Given the description of an element on the screen output the (x, y) to click on. 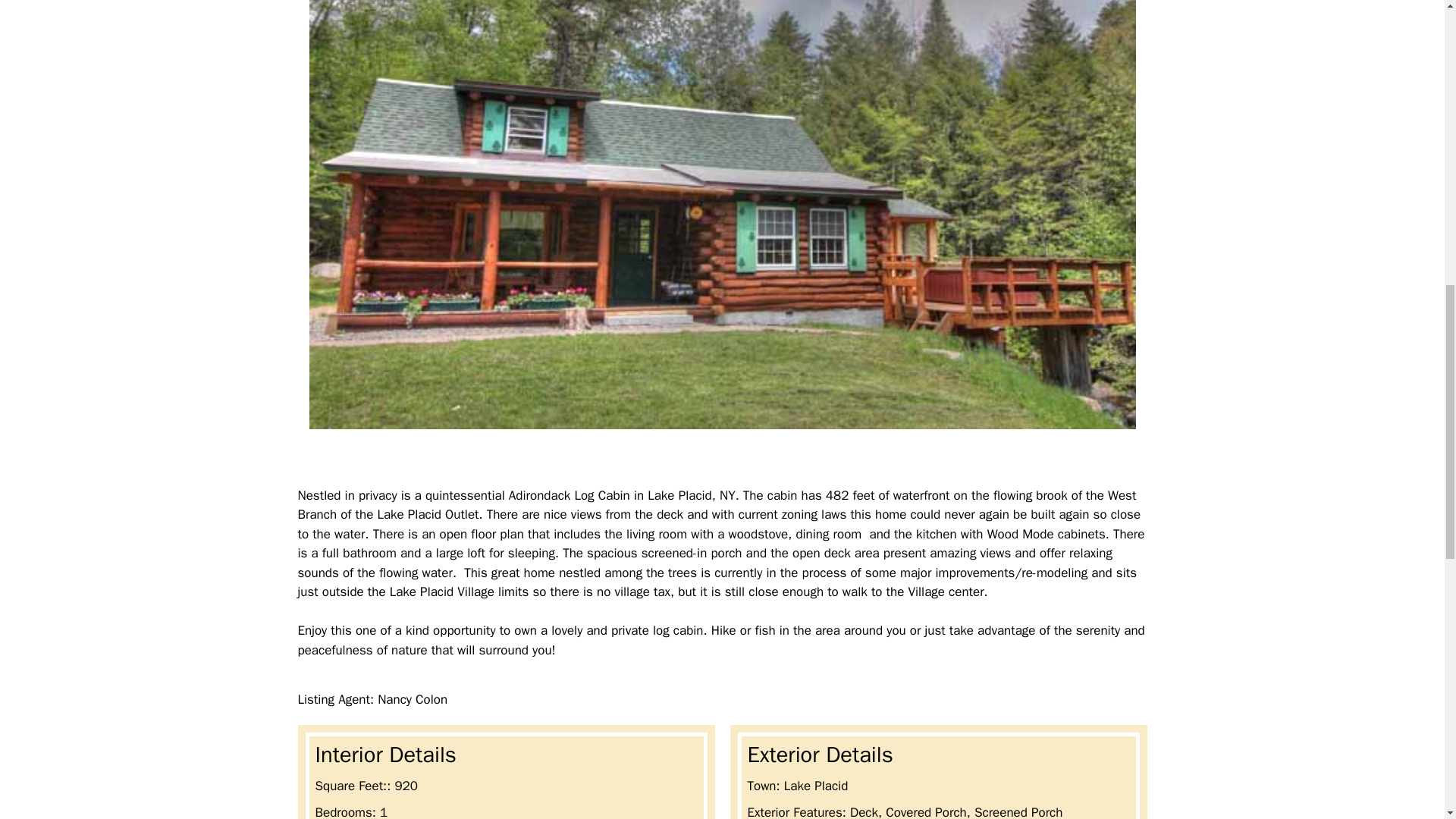
Scroll back to top (1406, 720)
